Given the description of an element on the screen output the (x, y) to click on. 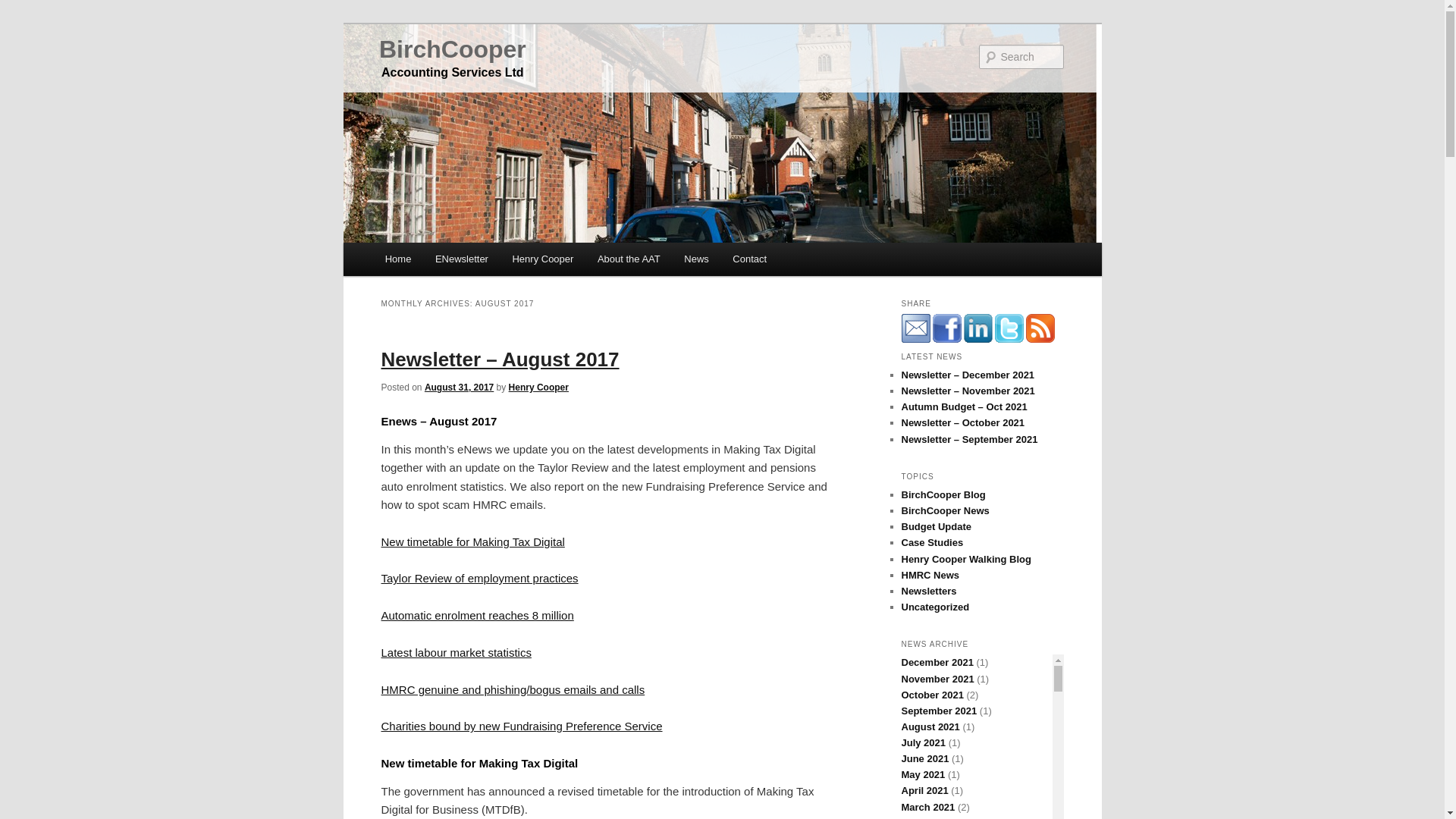
Search (24, 8)
1:16 pm (459, 387)
News (696, 258)
Home (397, 258)
Henry Cooper (542, 258)
follow us on twitter (1008, 328)
Charities bound by new Fundraising Preference Service (521, 725)
Skip to primary content (452, 261)
Skip to secondary content (459, 261)
visit our facebook page (946, 328)
Contact (749, 258)
Taylor Review of employment practices (479, 577)
New timetable for Making Tax Digital (472, 541)
About the AAT (628, 258)
meet me on linked in (976, 328)
